Given the description of an element on the screen output the (x, y) to click on. 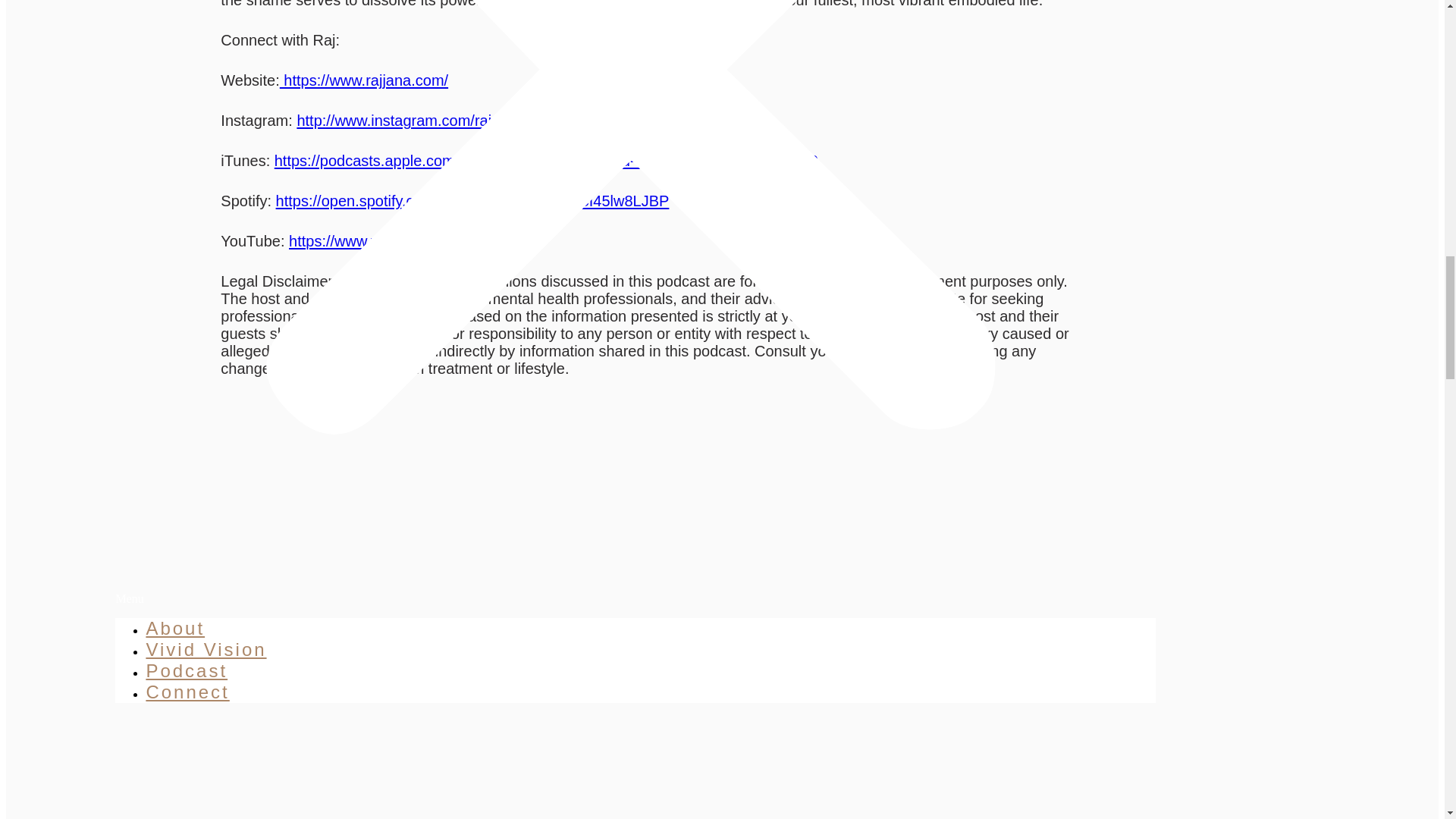
Connect (186, 691)
About (175, 628)
Vivid Vision (205, 649)
Podcast (186, 670)
